Given the description of an element on the screen output the (x, y) to click on. 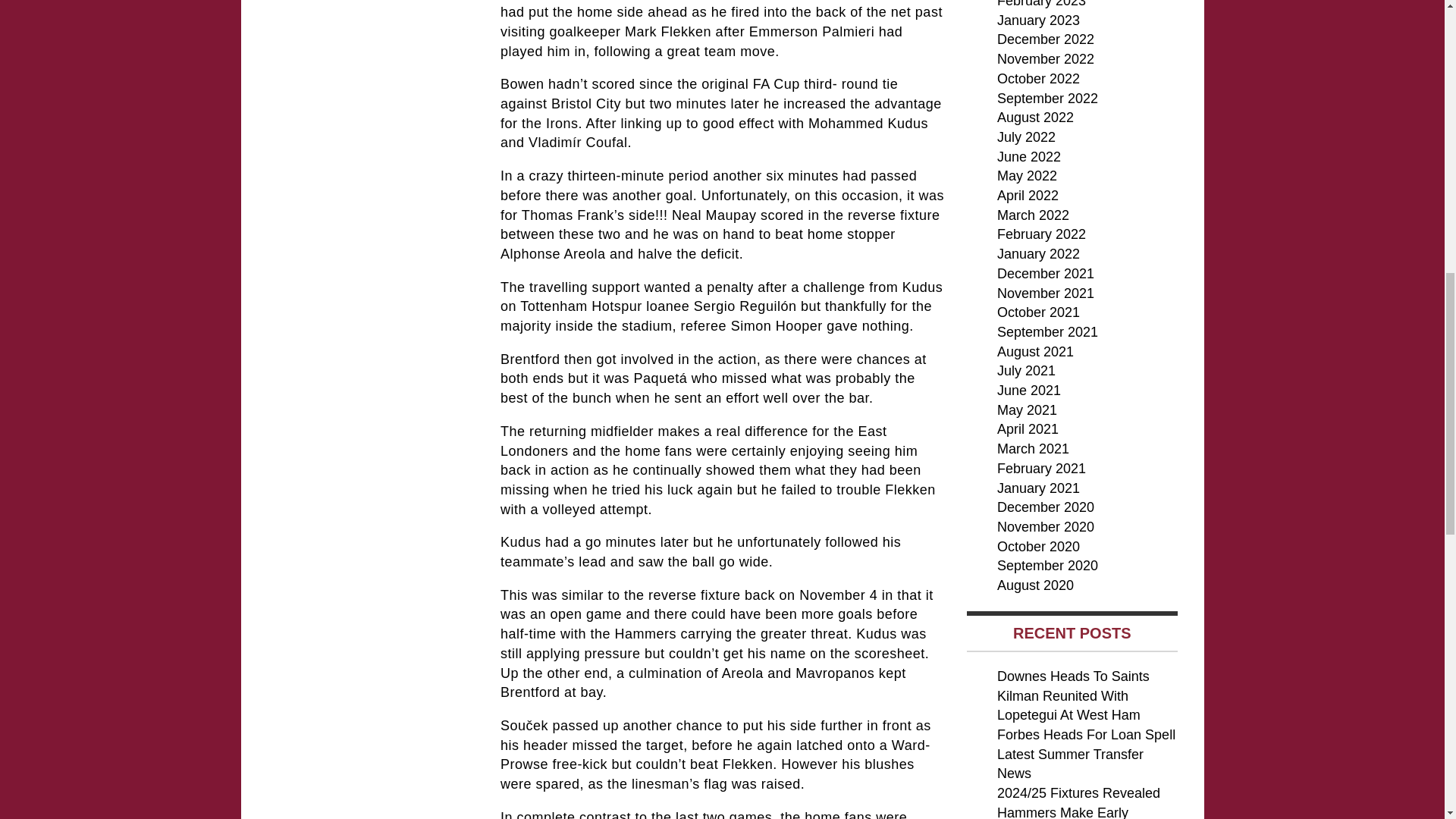
November 2022 (1045, 58)
August 2022 (1035, 117)
December 2022 (1045, 38)
February 2023 (1041, 4)
September 2022 (1047, 98)
January 2023 (1038, 20)
October 2022 (1038, 78)
